Given the description of an element on the screen output the (x, y) to click on. 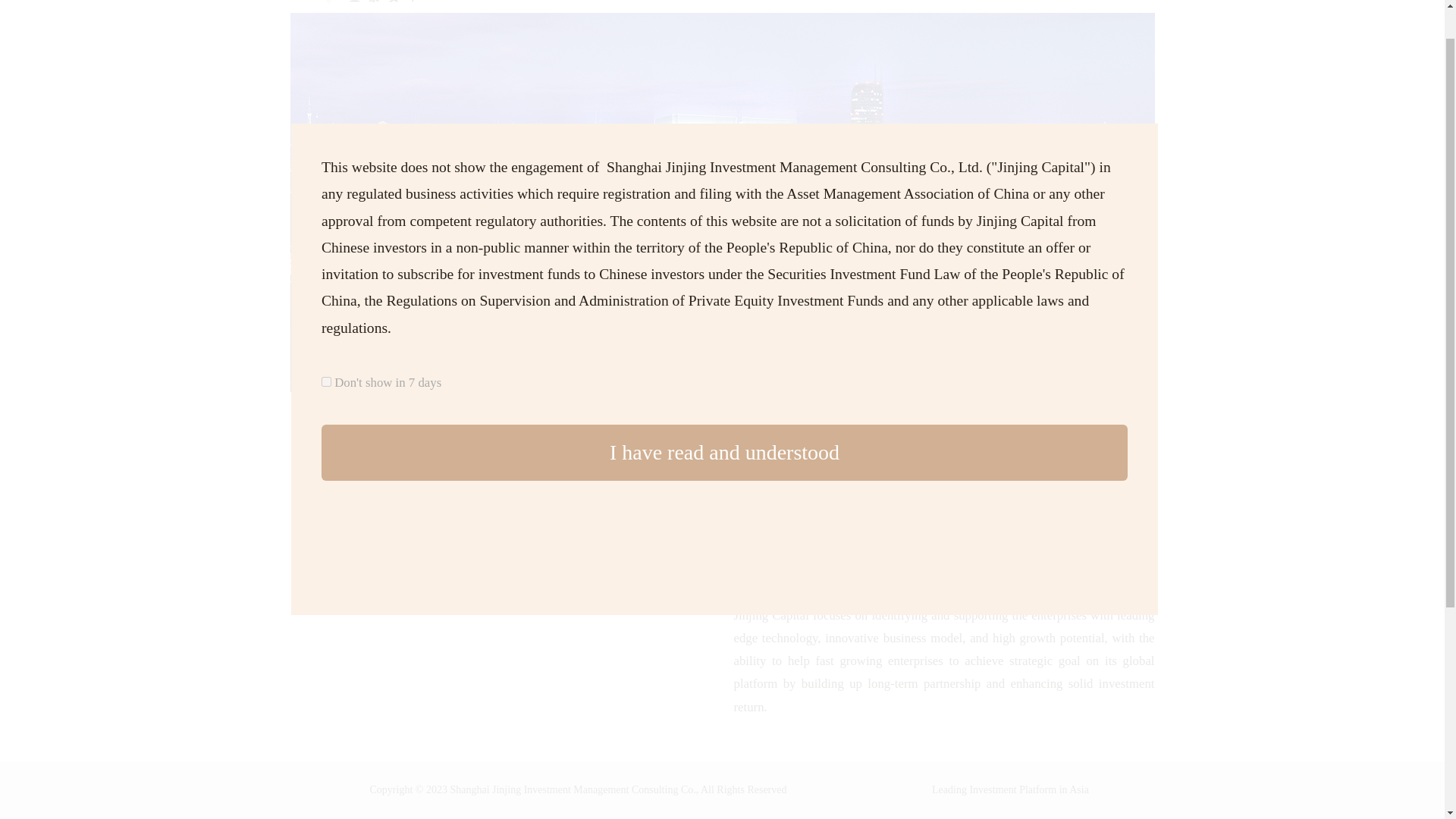
About Us (838, 2)
Jinjing Capital (386, 2)
on (326, 381)
Home (782, 2)
Contact Us (1022, 2)
Investment Strategy (928, 2)
I have read and understood (723, 452)
